Given the description of an element on the screen output the (x, y) to click on. 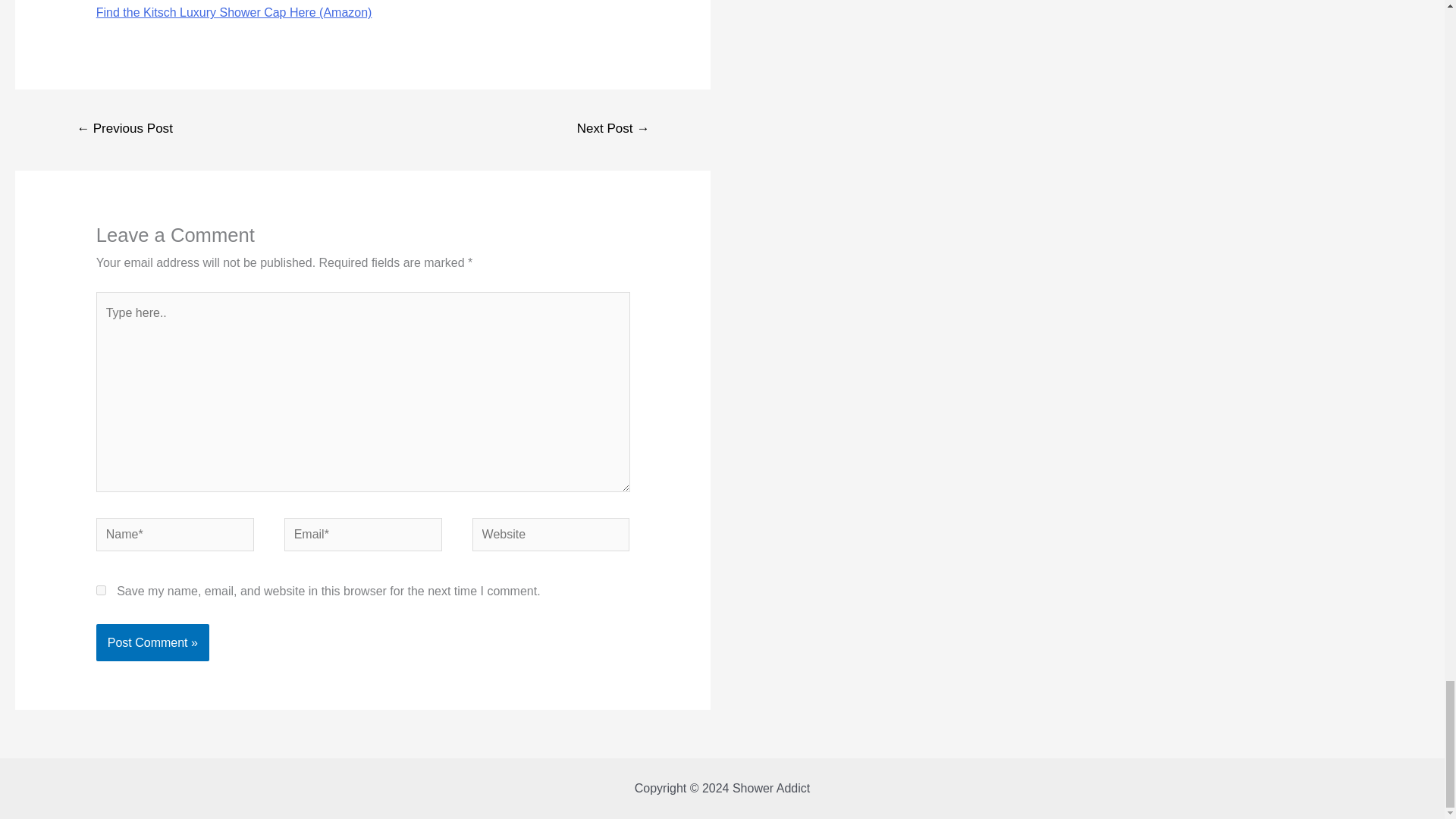
yes (101, 590)
